Given the description of an element on the screen output the (x, y) to click on. 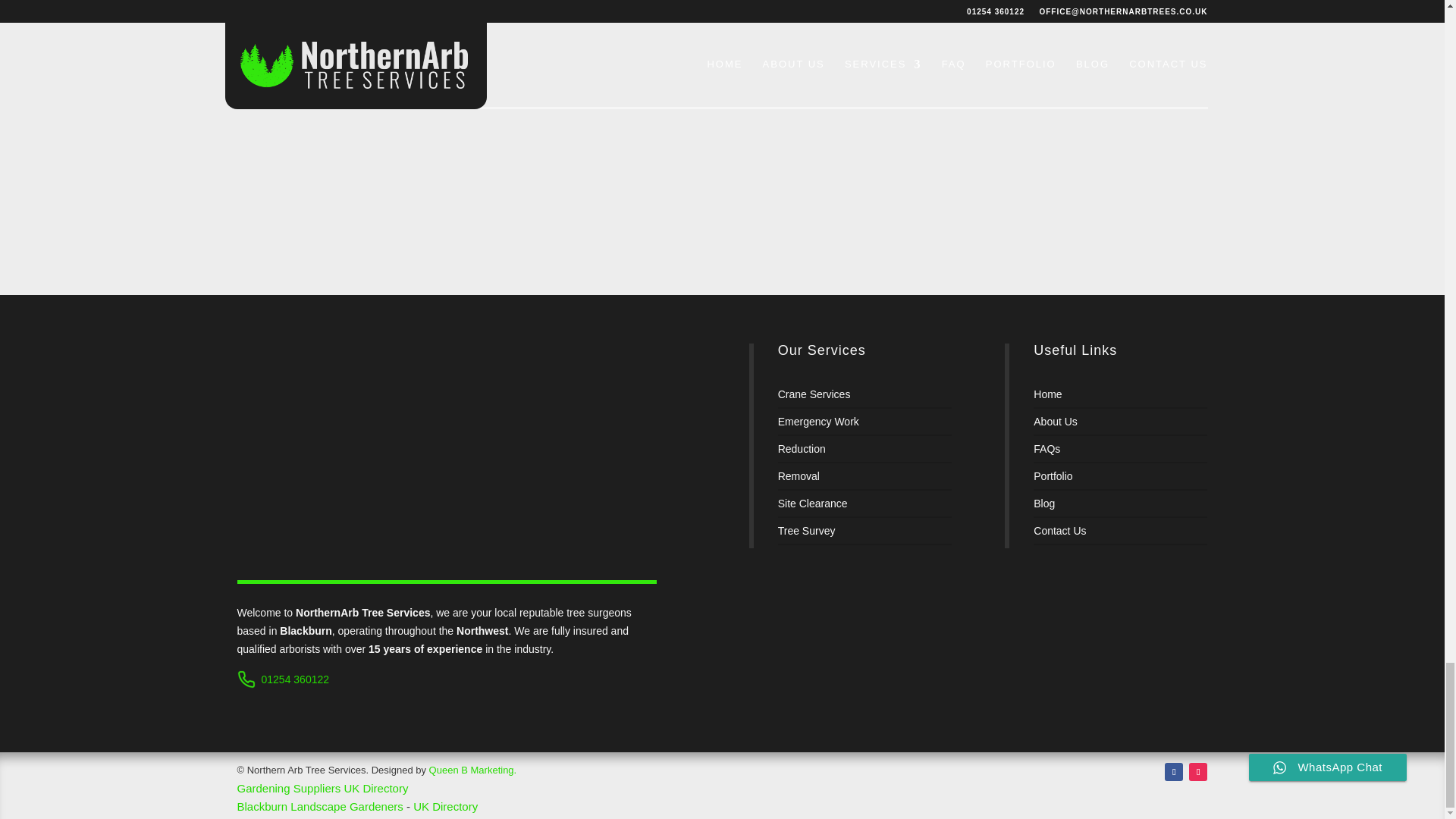
Follow on Instagram (1198, 771)
Follow on Facebook (1173, 771)
